Given the description of an element on the screen output the (x, y) to click on. 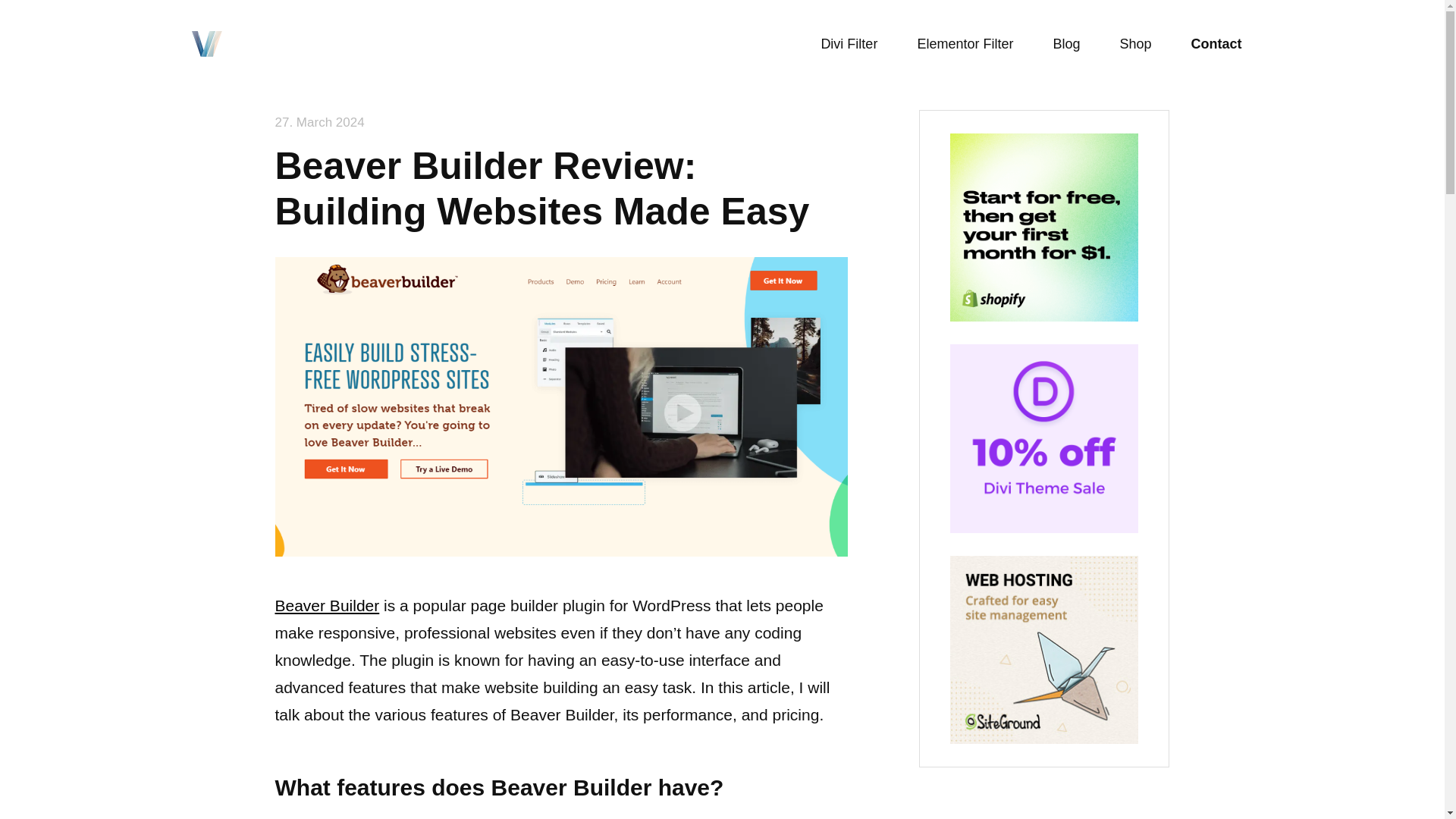
Elementor Filter (965, 43)
sidebar-image-1 (1044, 437)
Beaver Builder (326, 605)
Shopify Trial (1044, 227)
sidebar image 2 (1044, 649)
Divi Filter (849, 43)
Beaver Builder (326, 605)
Shopify 3 Month Trial (1044, 315)
